Given the description of an element on the screen output the (x, y) to click on. 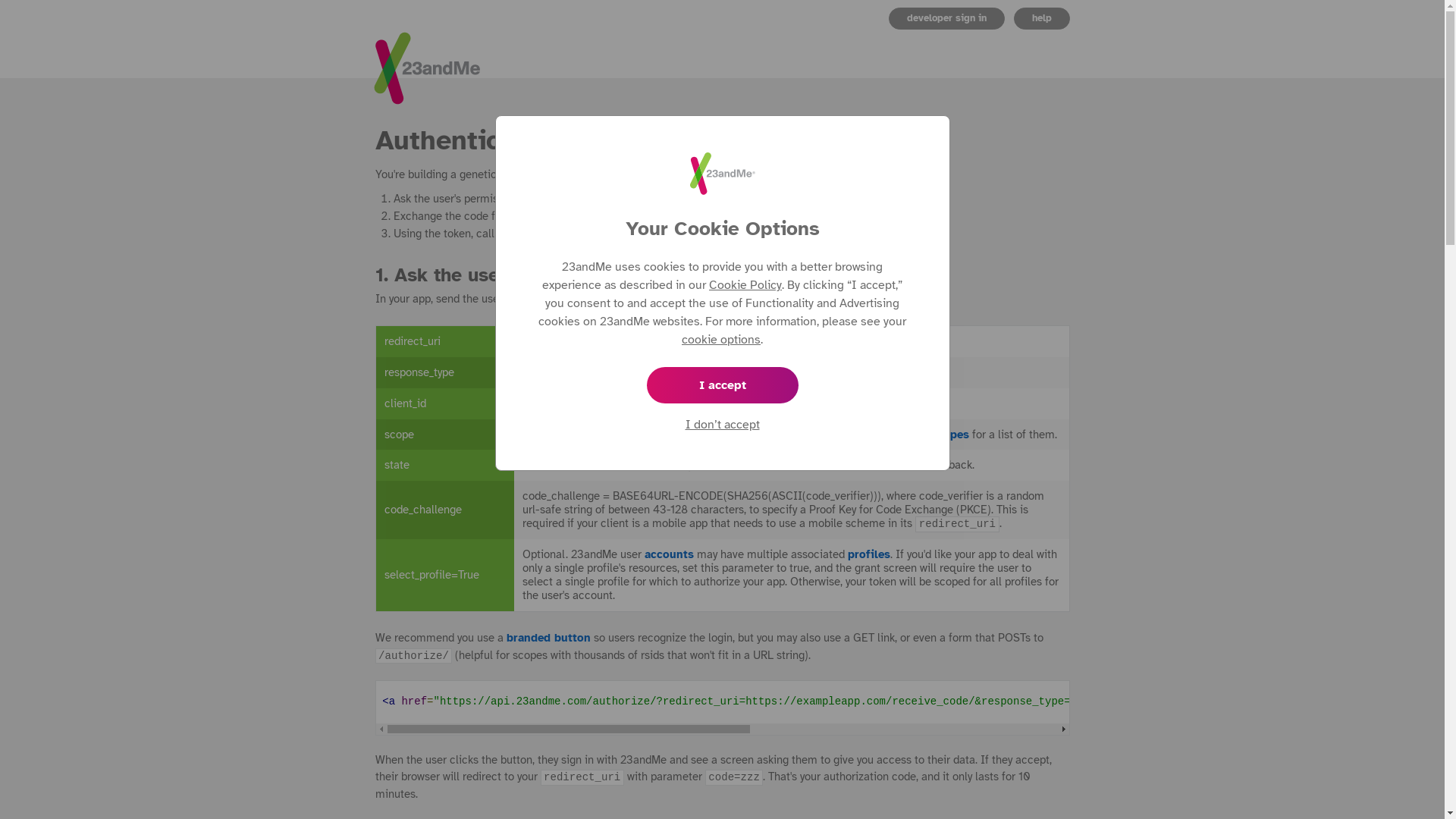
profiles Element type: text (868, 554)
Cookie Policy Element type: text (745, 284)
your dashboard Element type: text (669, 341)
cookie options Element type: text (720, 339)
developer sign in Element type: text (946, 18)
I accept Element type: text (721, 385)
your dashboard Element type: text (655, 403)
accounts Element type: text (668, 554)
scopes Element type: text (950, 434)
branded button Element type: text (548, 637)
help Element type: text (1041, 18)
